Given the description of an element on the screen output the (x, y) to click on. 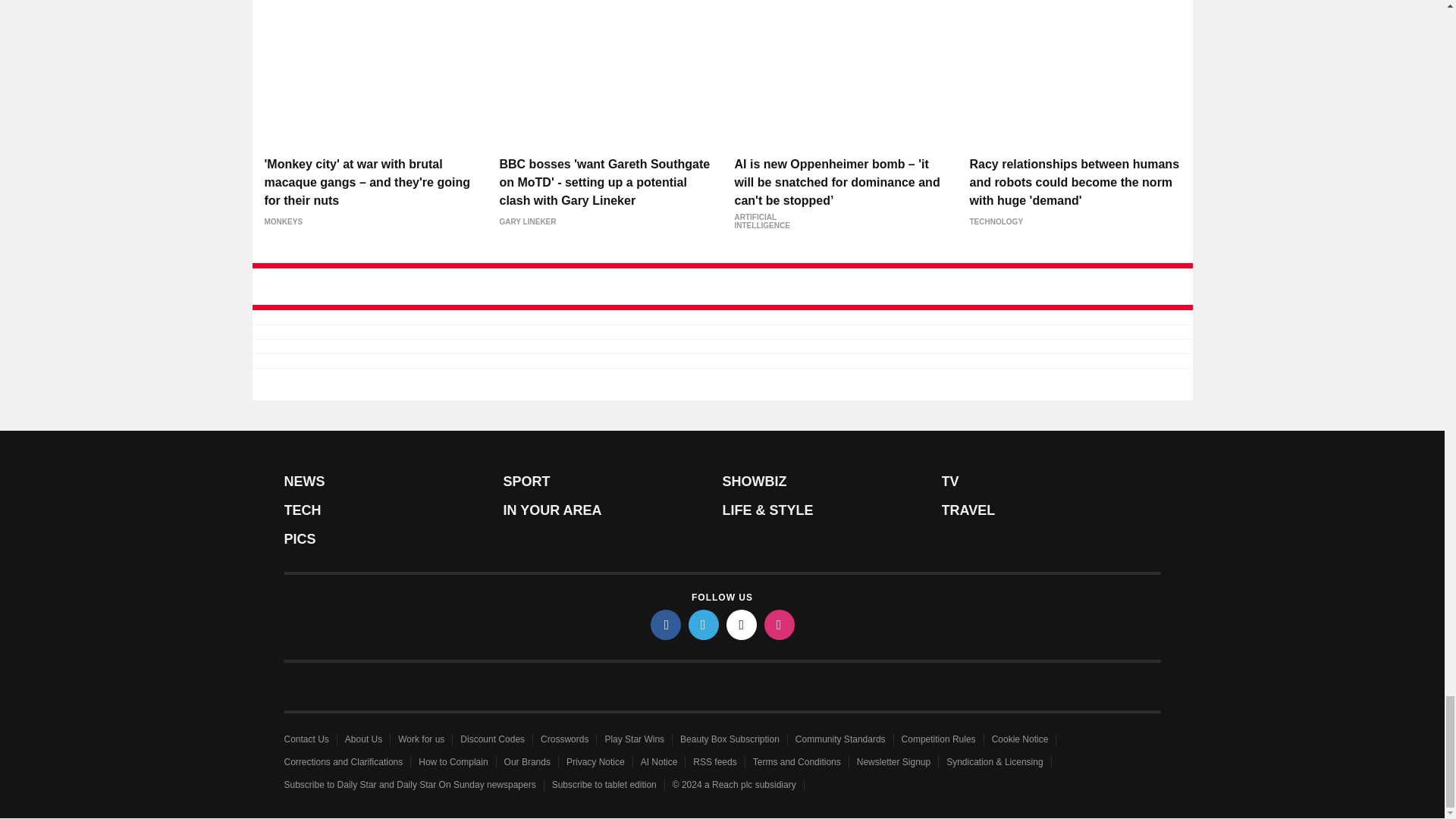
instagram (779, 624)
tiktok (741, 624)
twitter (703, 624)
facebook (665, 624)
